Given the description of an element on the screen output the (x, y) to click on. 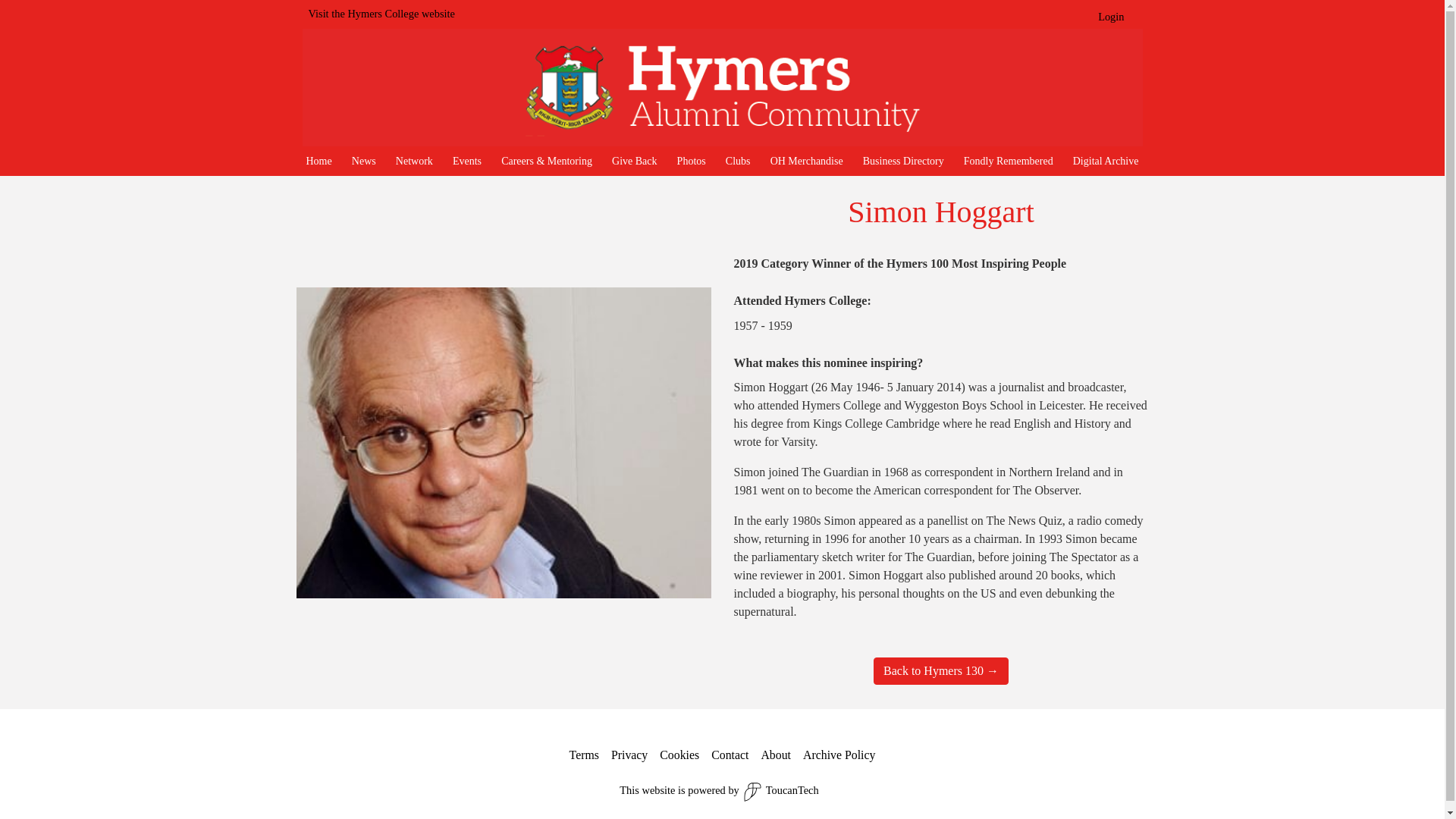
Give Back (633, 161)
Photos (691, 161)
Fondly Remembered (1007, 161)
Digital Archive (1105, 161)
Home (318, 161)
News (363, 161)
Login (1110, 16)
Terms (583, 754)
Business Directory (903, 161)
Clubs (738, 161)
